Given the description of an element on the screen output the (x, y) to click on. 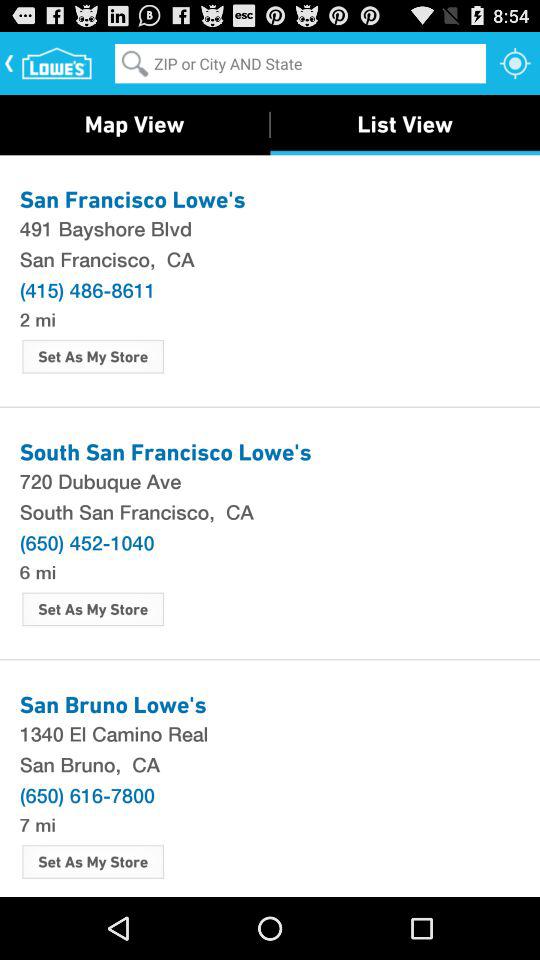
launch icon above the 6 mi (86, 541)
